Given the description of an element on the screen output the (x, y) to click on. 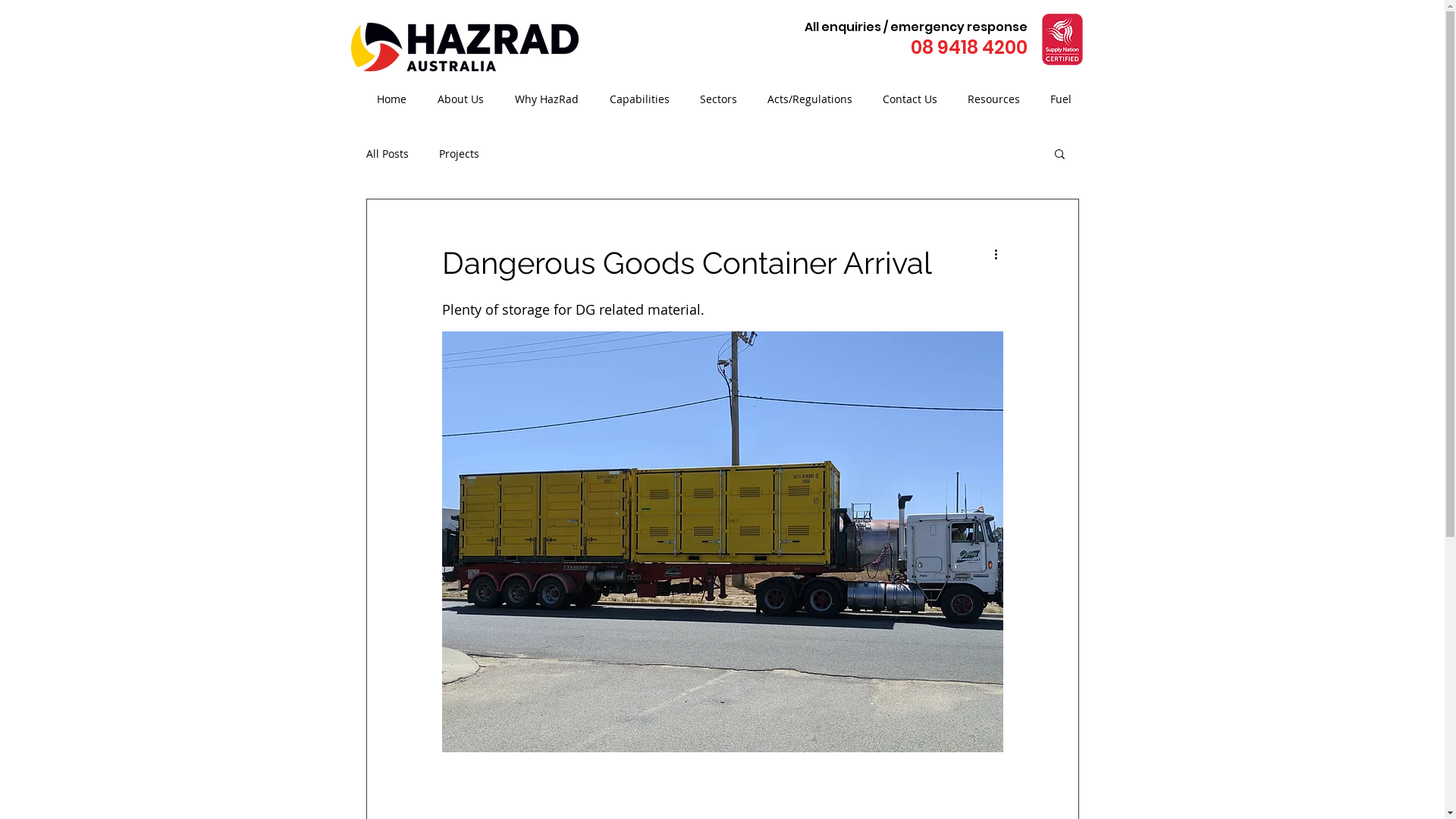
Home Element type: text (398, 98)
08 94 Element type: text (935, 46)
Resources Element type: text (1001, 98)
Acts/Regulations Element type: text (817, 98)
HazRad Australia Element type: hover (463, 46)
Projects Element type: text (458, 152)
Why HazRad Element type: text (553, 98)
About Us Element type: text (467, 98)
Fuel Element type: text (1067, 98)
18 4200 Element type: text (993, 46)
Sectors Element type: text (725, 98)
Capabilities Element type: text (647, 98)
All Posts Element type: text (386, 152)
Contact Us Element type: text (917, 98)
Supply Nation Certified Element type: hover (1061, 39)
